Given the description of an element on the screen output the (x, y) to click on. 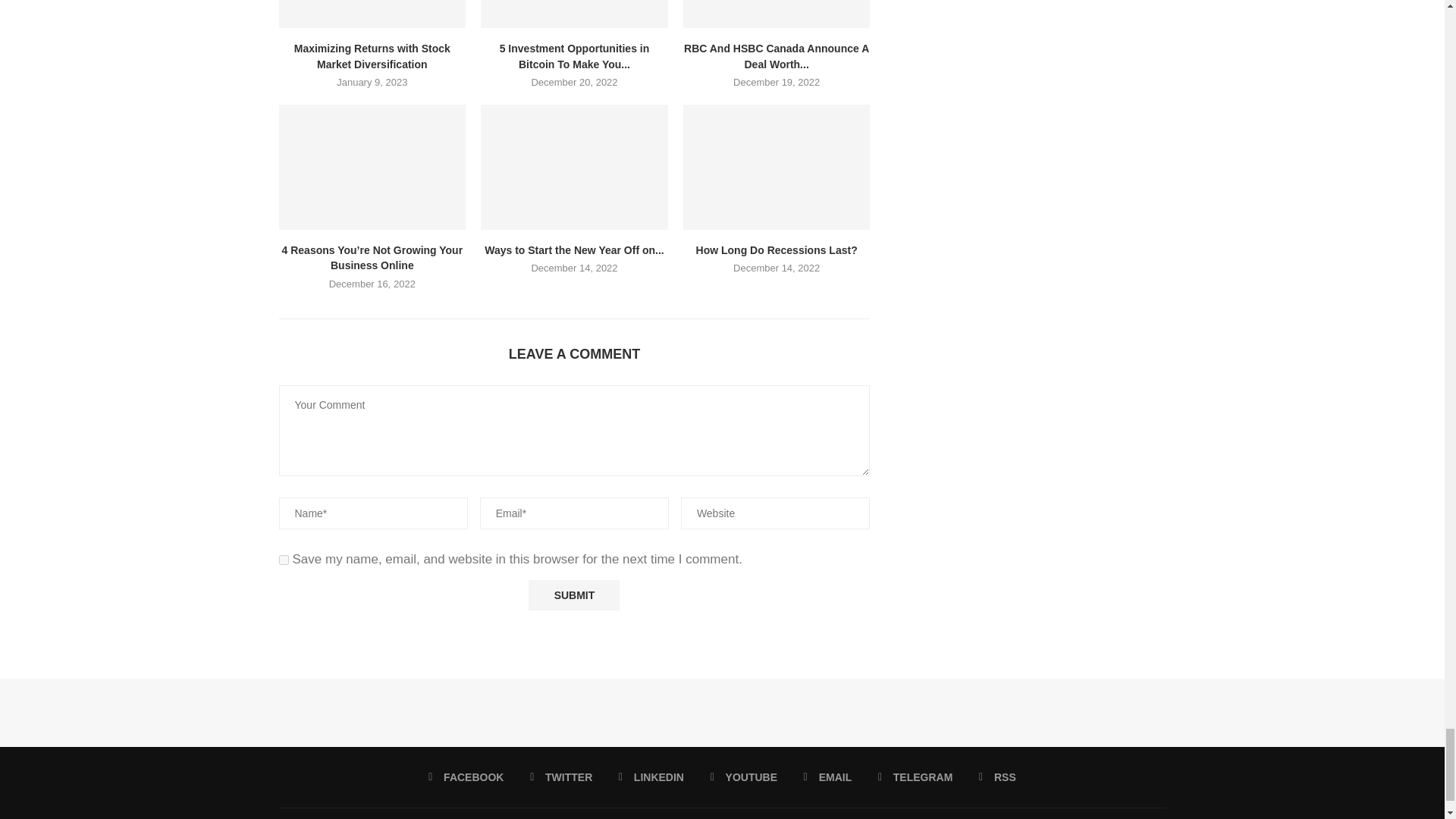
yes (283, 560)
Submit (574, 594)
